Given the description of an element on the screen output the (x, y) to click on. 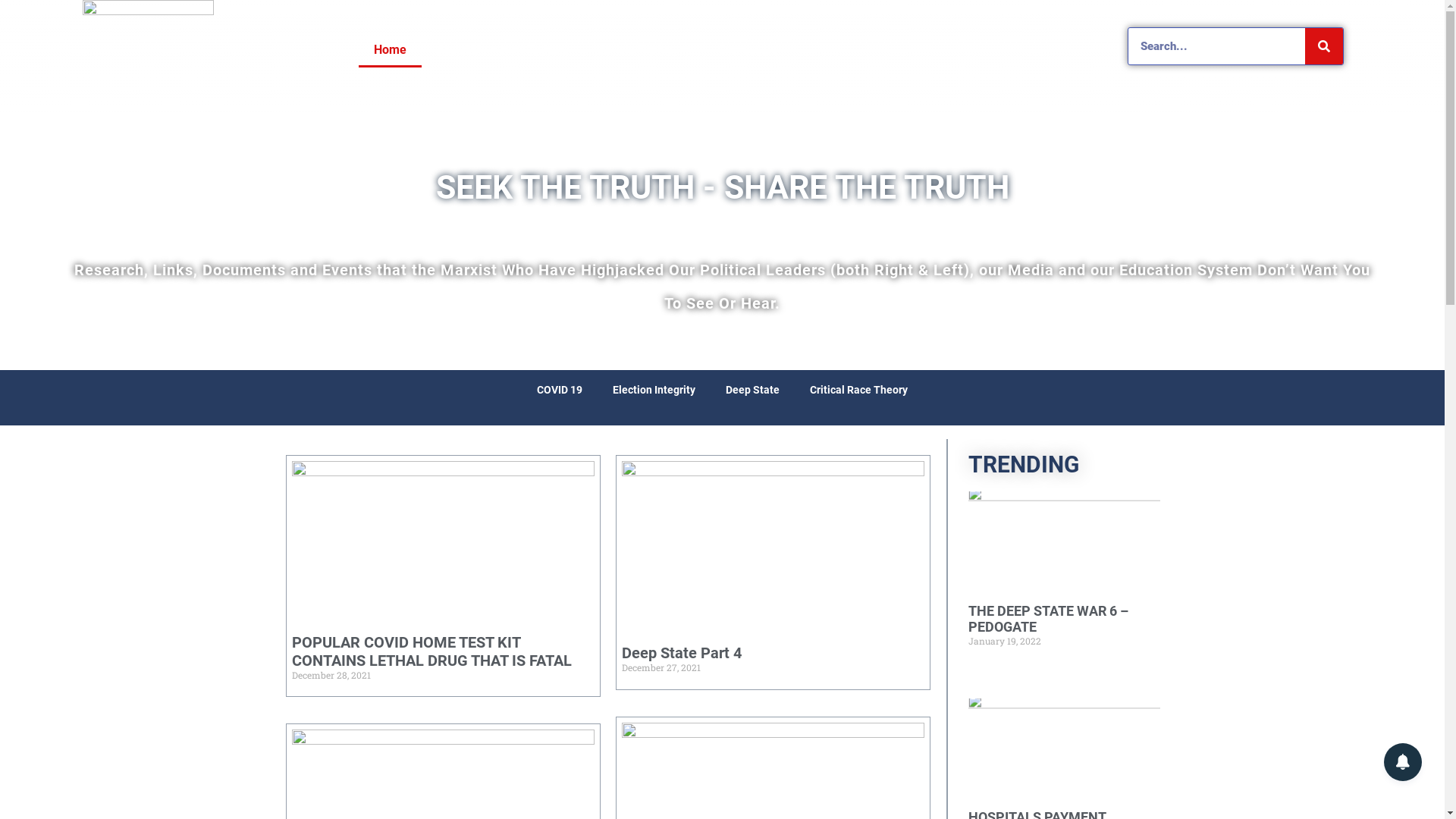
Critical Race Theory Element type: text (858, 389)
Deep State Part 4 Element type: text (681, 652)
Article Topics Element type: text (642, 49)
COVID 19 Element type: text (559, 389)
Election Integrity Element type: text (653, 389)
Contact Us Element type: text (747, 49)
Deep State Element type: text (752, 389)
Home Element type: text (389, 49)
